Given the description of an element on the screen output the (x, y) to click on. 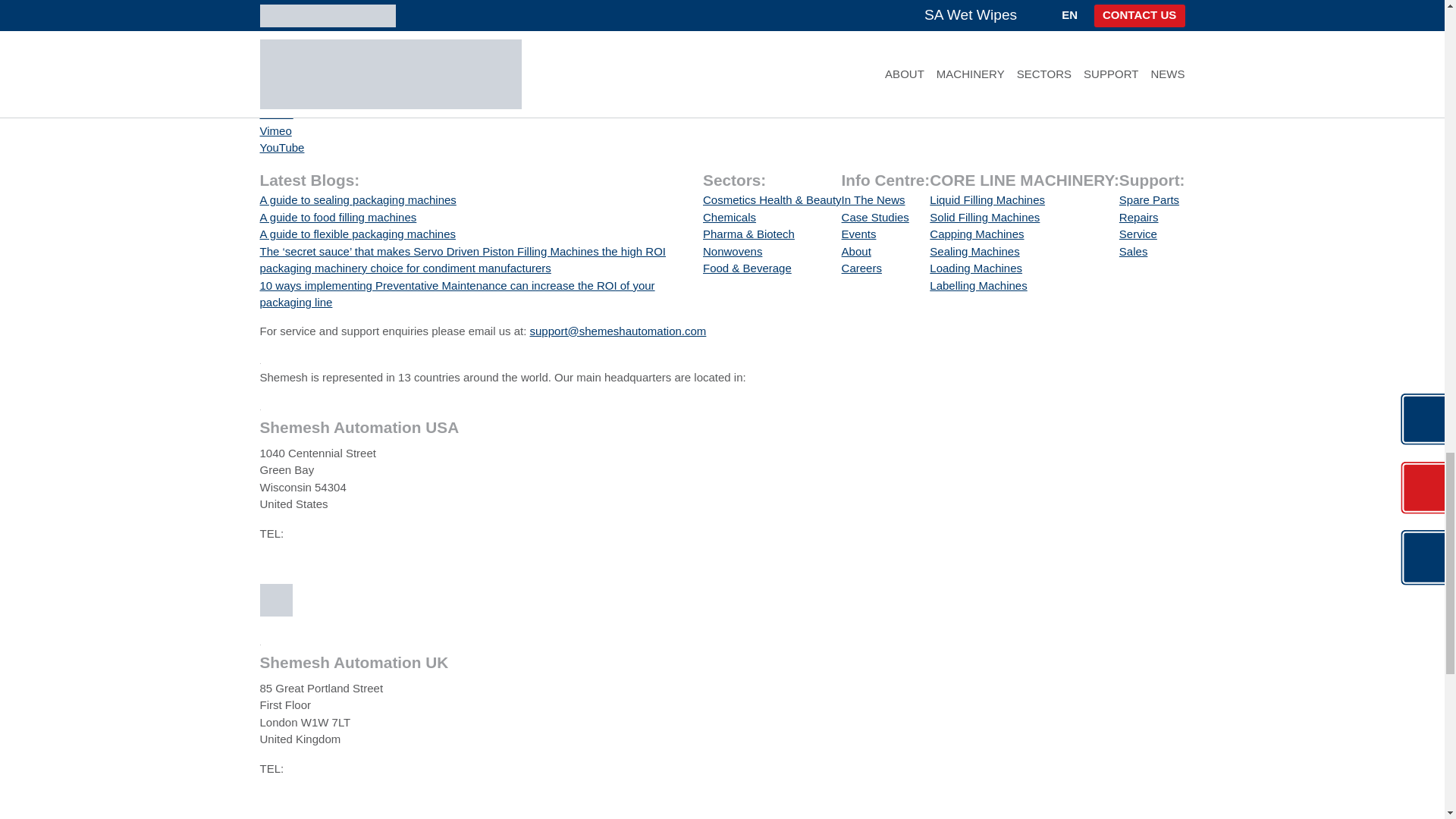
Subscribe (290, 62)
